Given the description of an element on the screen output the (x, y) to click on. 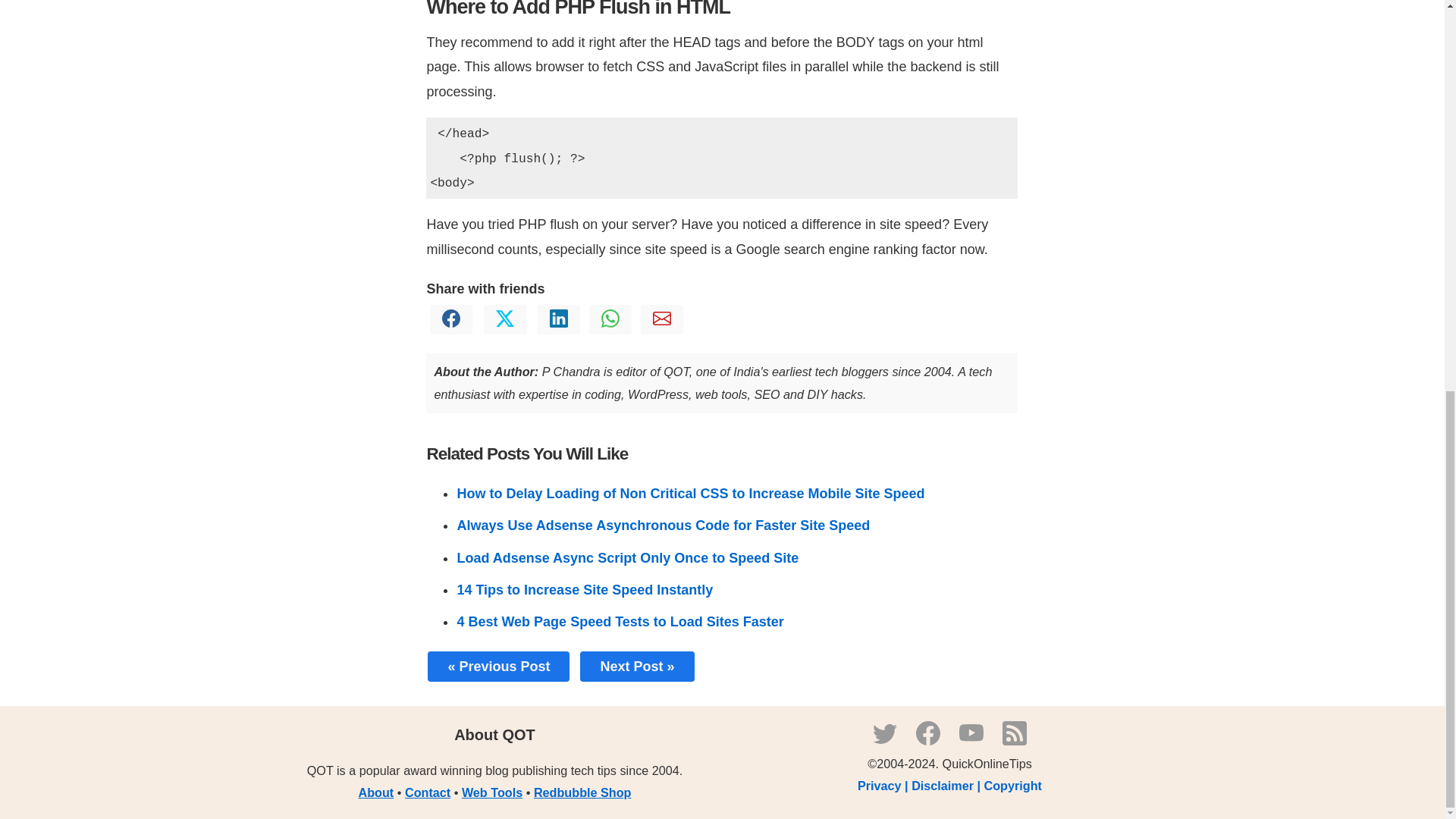
4 Best Web Page Speed Tests to Load Sites Faster (620, 621)
Always Use Adsense Asynchronous Code for Faster Site Speed (663, 525)
Follow us on Youtube (971, 740)
14 Tips to Increase Site Speed Instantly (585, 589)
Load Adsense Async Script Only Once to Speed Site (627, 557)
Share on Linkedin (558, 322)
Web Tools (491, 792)
Subscribe RSS Feed (1014, 740)
Send to Whatsapp (610, 322)
Contact (426, 792)
Redbubble Shop (582, 792)
Follow us on Facebook (927, 740)
Share on Twitter (504, 322)
Share on Facebook (451, 322)
